Given the description of an element on the screen output the (x, y) to click on. 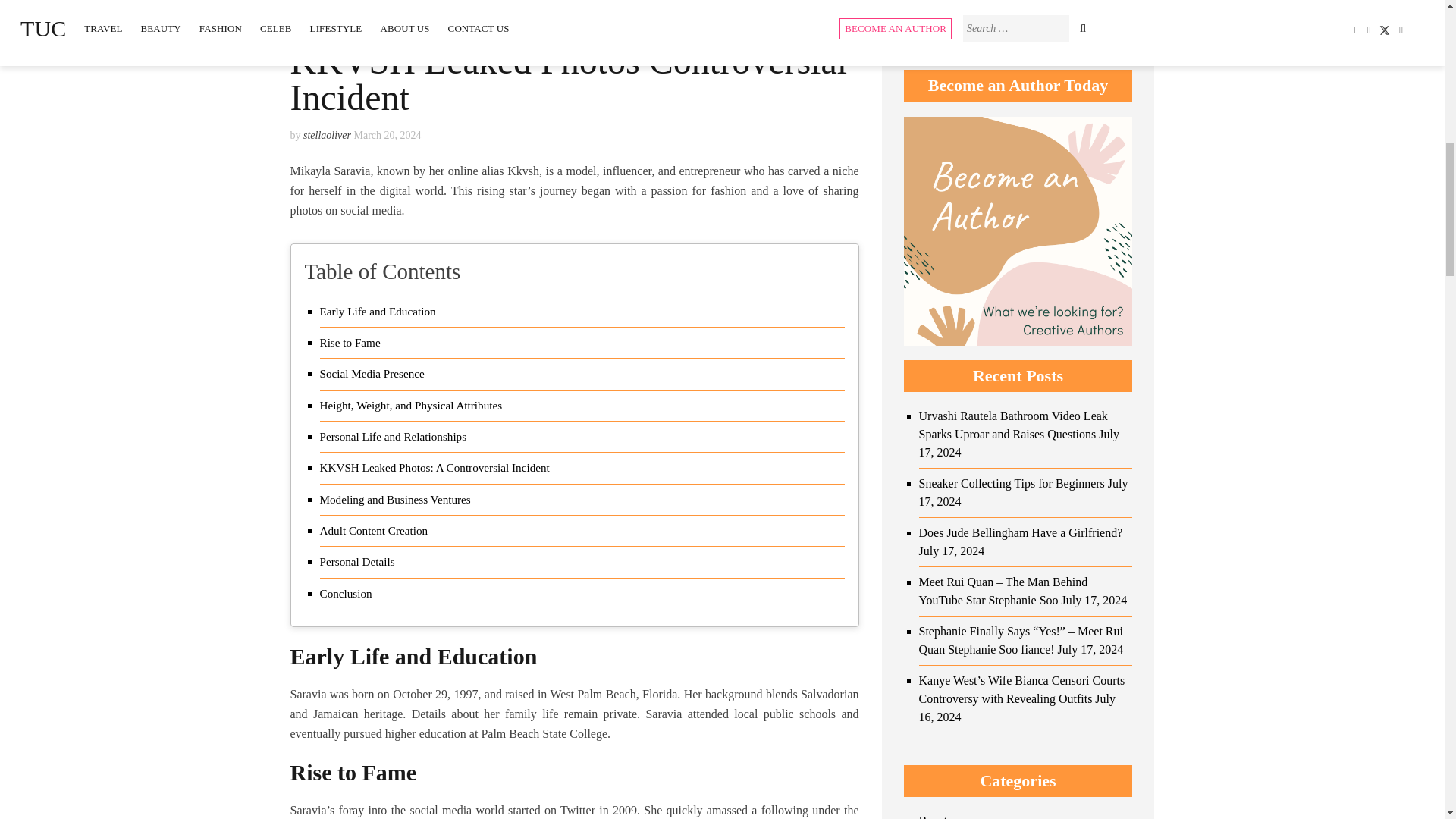
KKVSH Leaked Photos: A Controversial Incident (435, 467)
Personal Details (357, 561)
Conclusion (346, 593)
Modeling and Business Ventures (395, 499)
KKVSH Leaked Photos: A Controversial Incident (435, 467)
Personal Details (357, 561)
Social Media Presence (372, 373)
Rise to Fame (350, 342)
Personal Life and Relationships (393, 436)
Rise to Fame (350, 342)
stellaoliver (326, 134)
Early Life and Education (377, 311)
Height, Weight, and Physical Attributes (411, 405)
Social Media Presence (372, 373)
Adult Content Creation (374, 530)
